Given the description of an element on the screen output the (x, y) to click on. 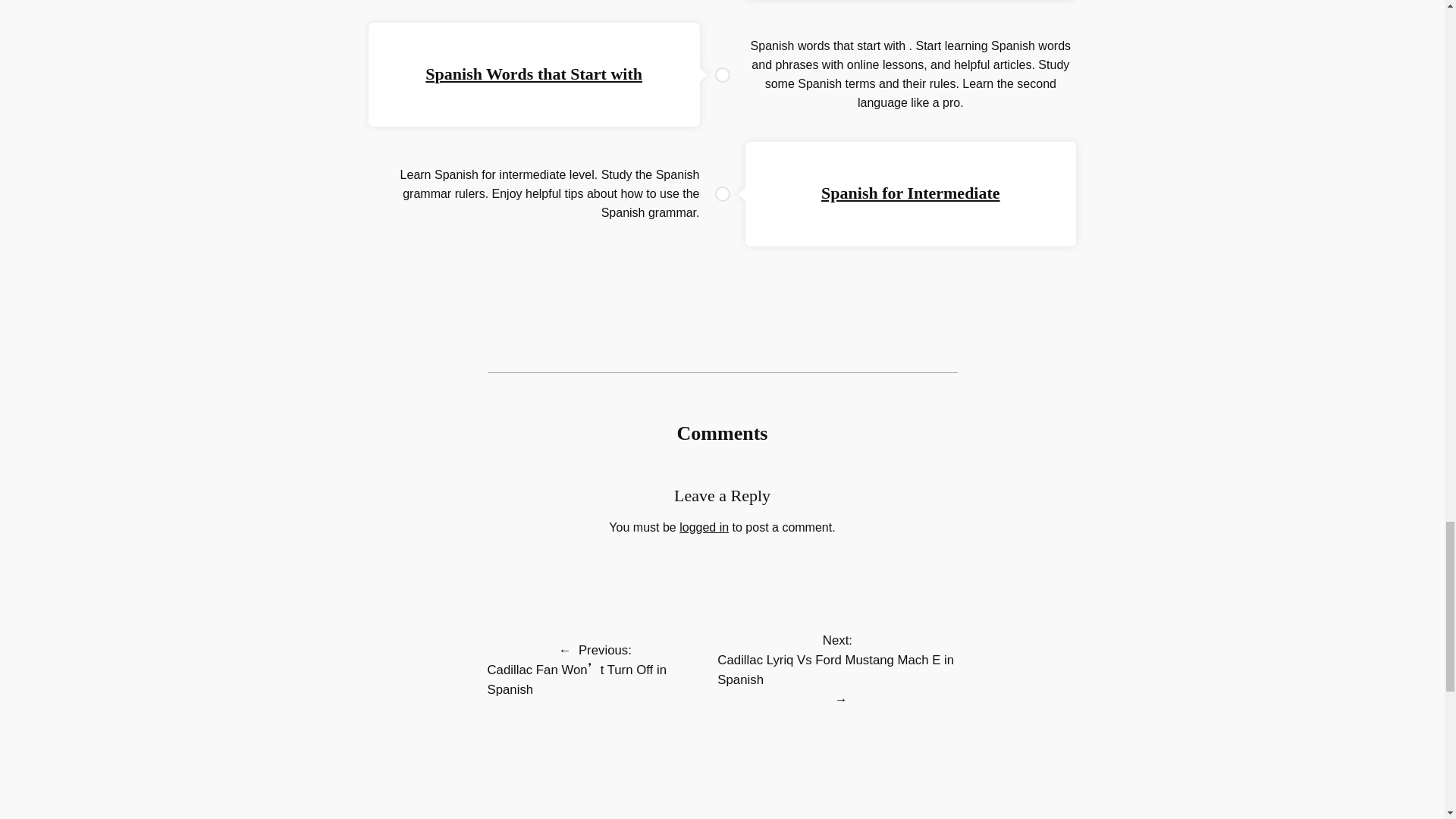
logged in (704, 526)
Spanish Words that Start with (533, 73)
Spanish for Intermediate (910, 192)
Next: Cadillac Lyriq Vs Ford Mustang Mach E in Spanish (836, 660)
